Given the description of an element on the screen output the (x, y) to click on. 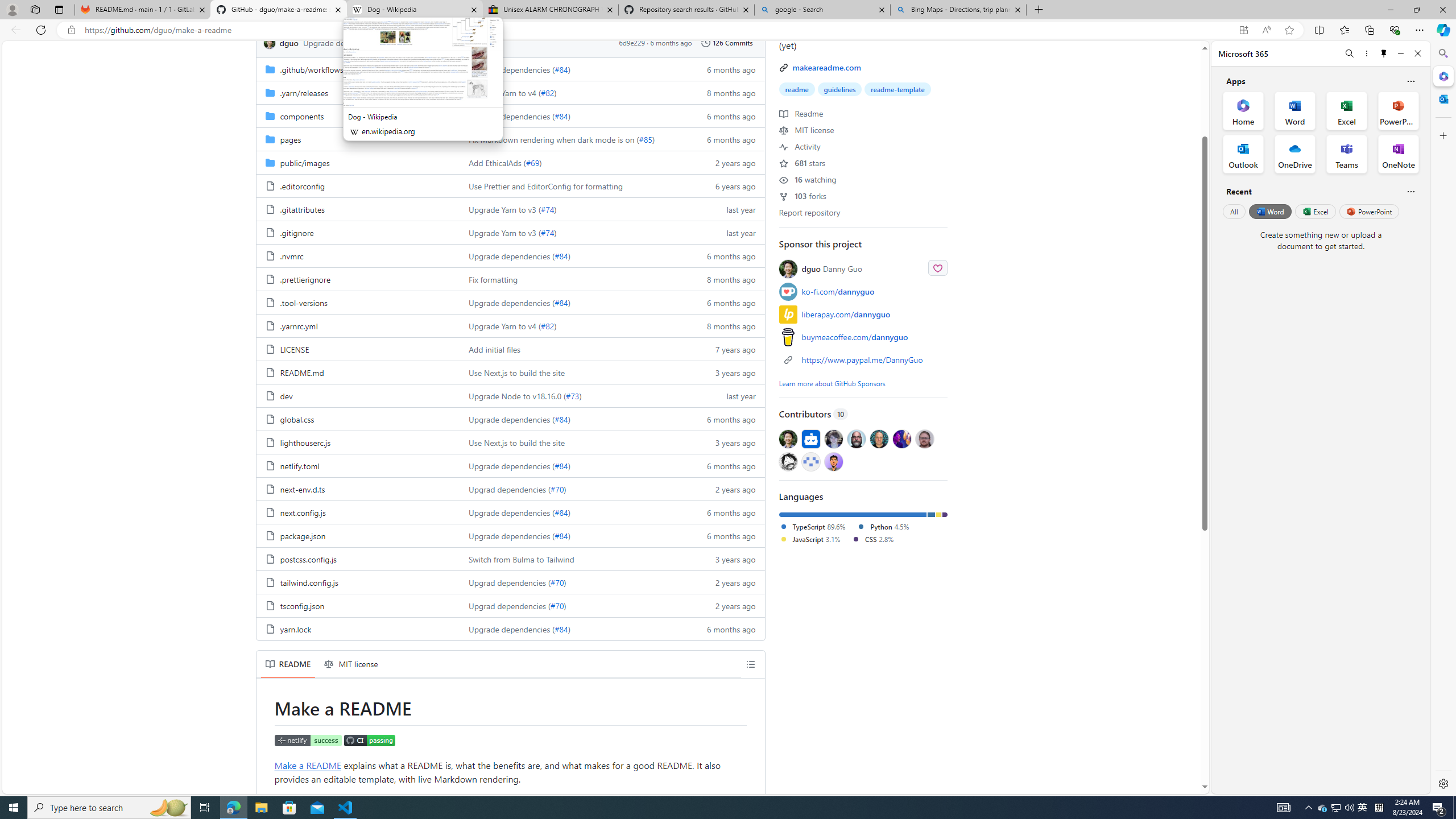
#74 (547, 232)
Upgrade Yarn to v4 ( (504, 325)
AutomationID: folder-row-7 (510, 232)
next-env.d.ts, (File) (301, 488)
 MIT license (806, 129)
next-env.d.ts, (File) (358, 488)
Netlify Status (307, 740)
dguo Danny Guo (830, 268)
AutomationID: folder-row-3 (510, 138)
AutomationID: folder-row-24 (510, 628)
Upgrade Node to v18.16.0 (#73) (573, 395)
AutomationID: folder-row-21 (510, 558)
Favorites (1344, 29)
.editorconfig, (File) (358, 185)
#85 (645, 138)
